Given the description of an element on the screen output the (x, y) to click on. 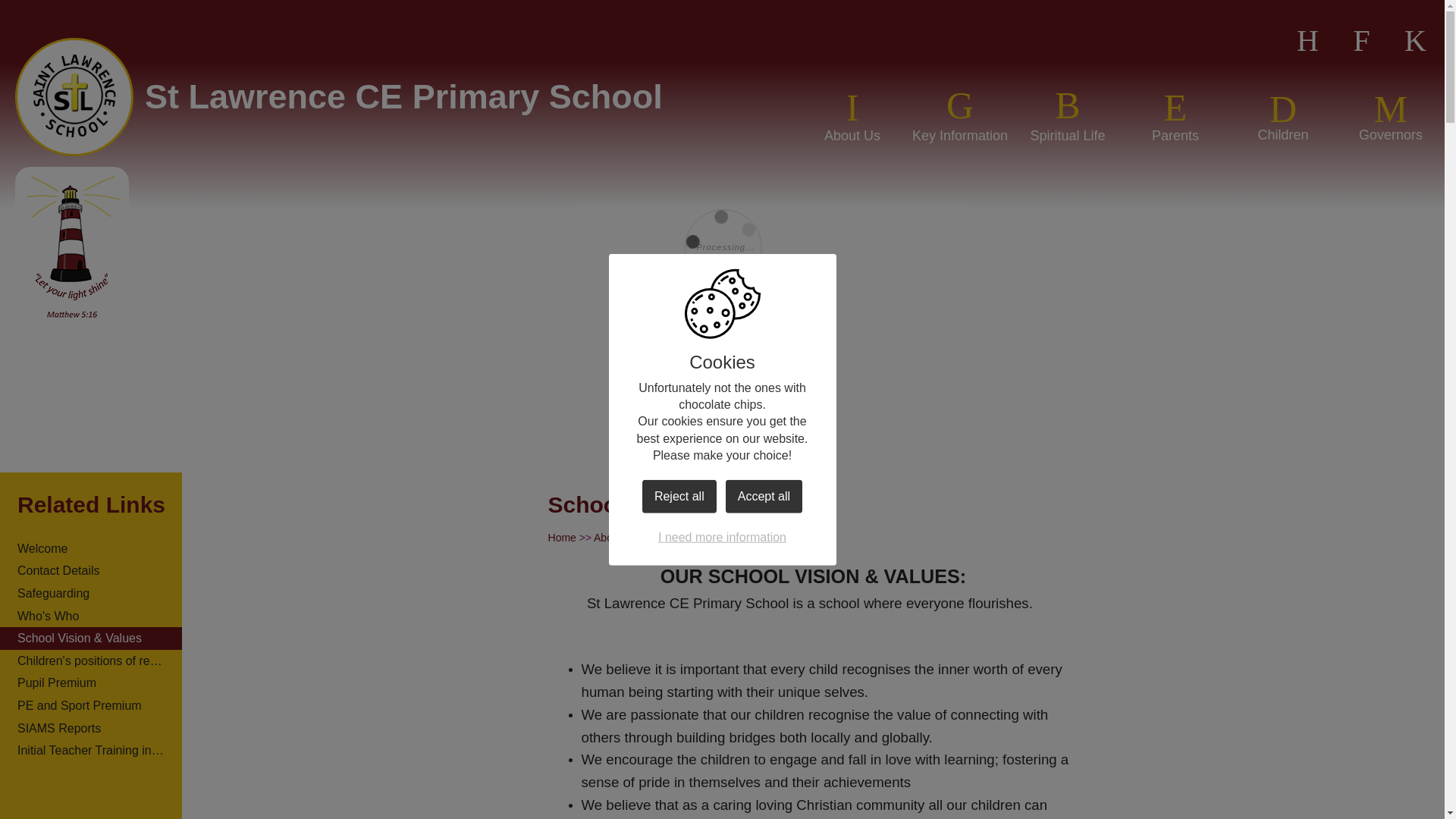
Log in (1414, 40)
Key Information (960, 113)
About Us (852, 113)
Home Page (73, 96)
